Given the description of an element on the screen output the (x, y) to click on. 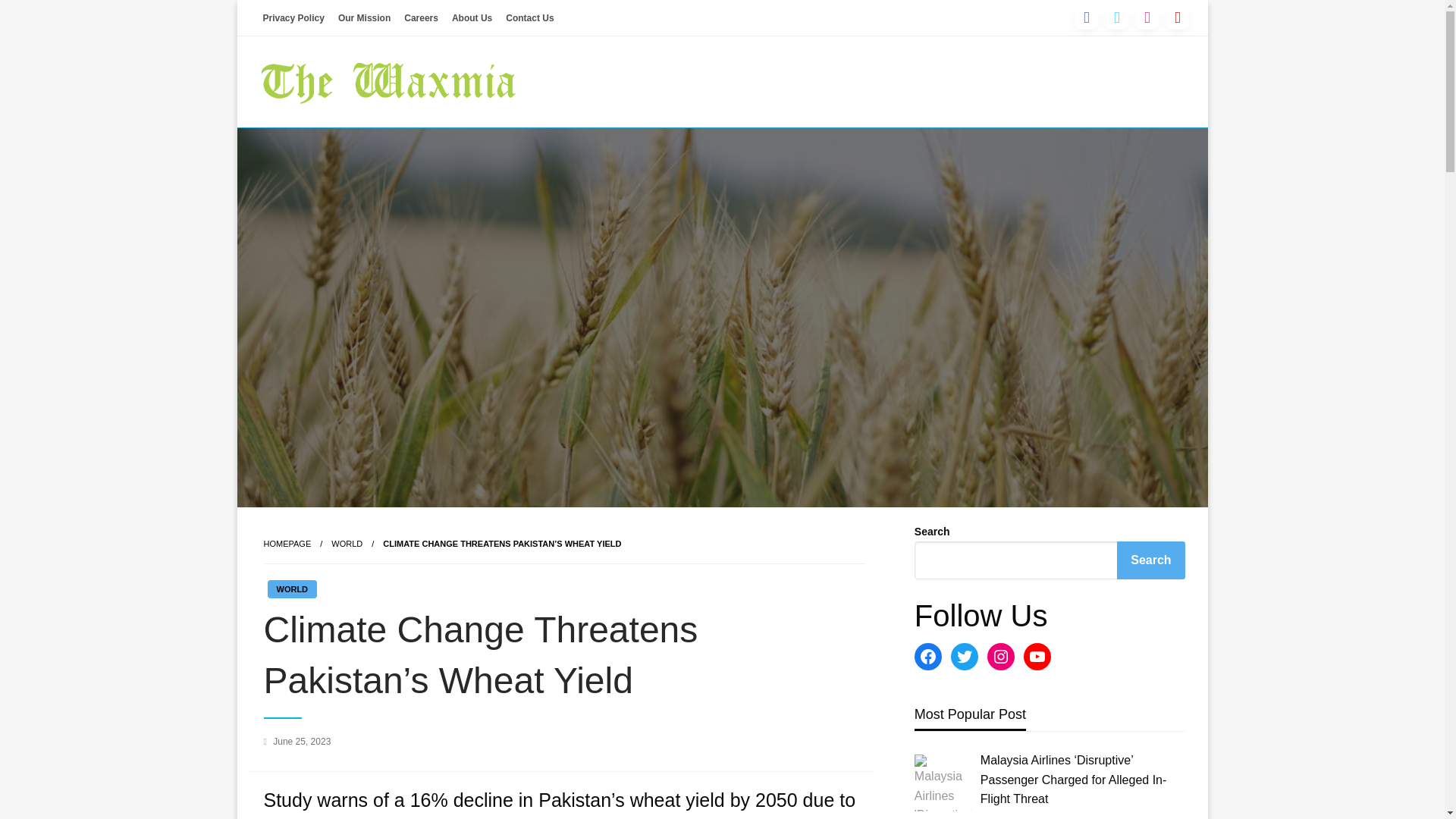
World (346, 542)
Homepage (287, 542)
About Us (472, 17)
Our Mission (364, 17)
Privacy Policy (293, 17)
Careers (421, 17)
Contact Us (529, 17)
WaxMia (310, 146)
